Given the description of an element on the screen output the (x, y) to click on. 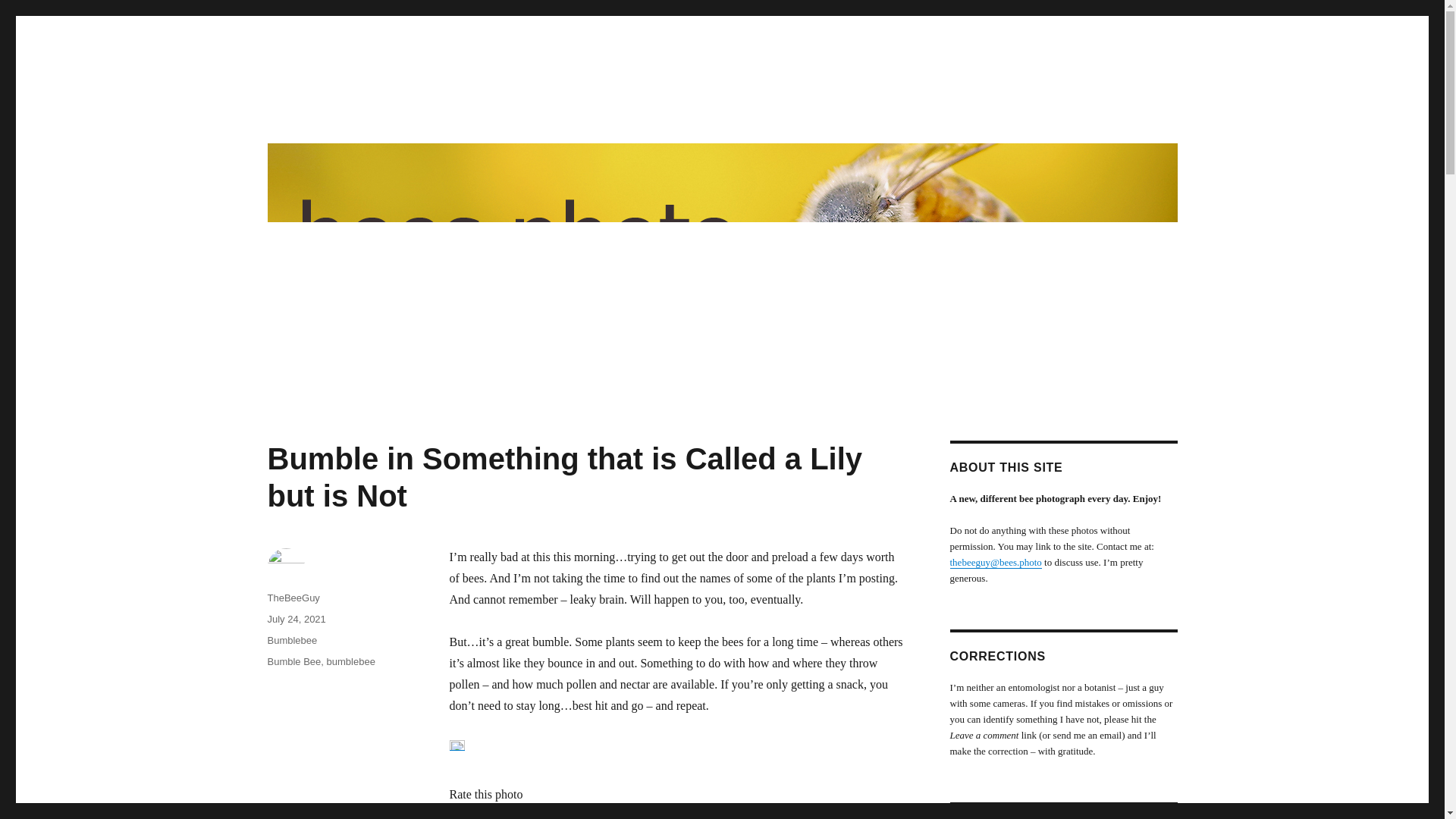
Bumblebee (291, 640)
Daily Bee (314, 114)
bumblebee (350, 661)
Bumble Bee (293, 661)
TheBeeGuy (292, 597)
July 24, 2021 (295, 618)
